Given the description of an element on the screen output the (x, y) to click on. 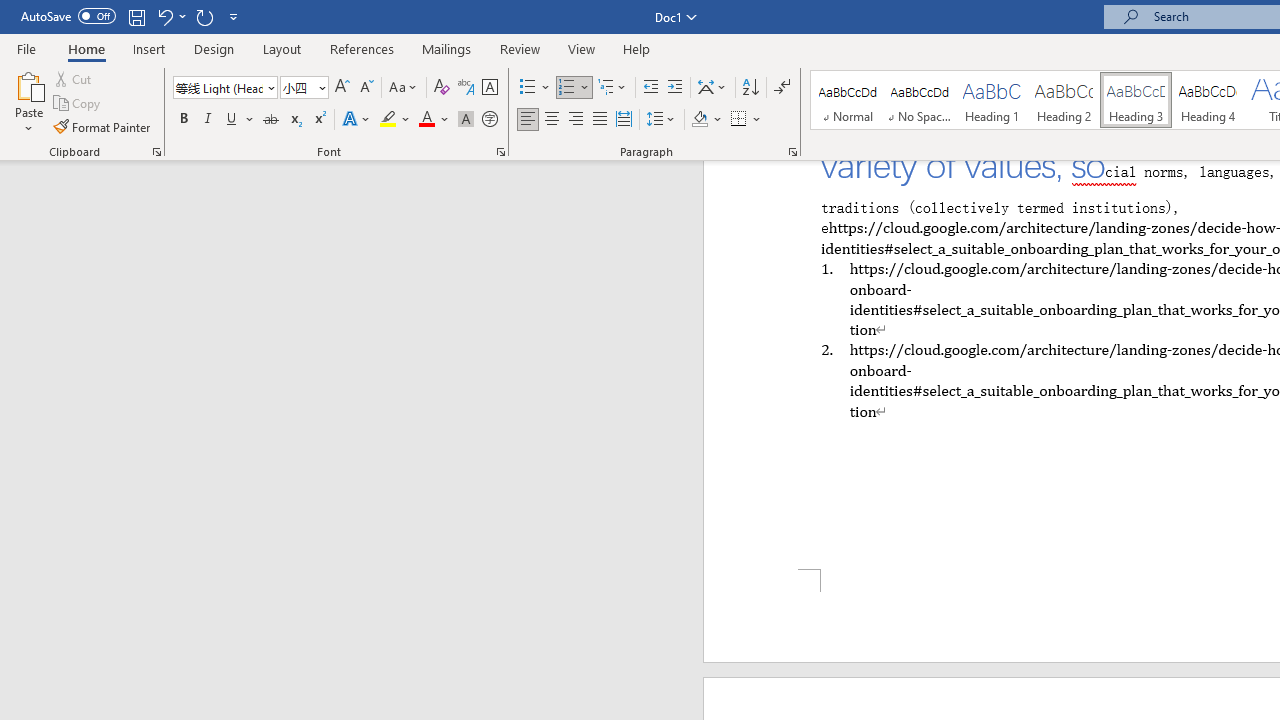
Undo Paragraph Alignment (164, 15)
Office Clipboard... (156, 151)
Font... (500, 151)
Sort... (750, 87)
Phonetic Guide... (465, 87)
Justify (599, 119)
Bold (183, 119)
